Given the description of an element on the screen output the (x, y) to click on. 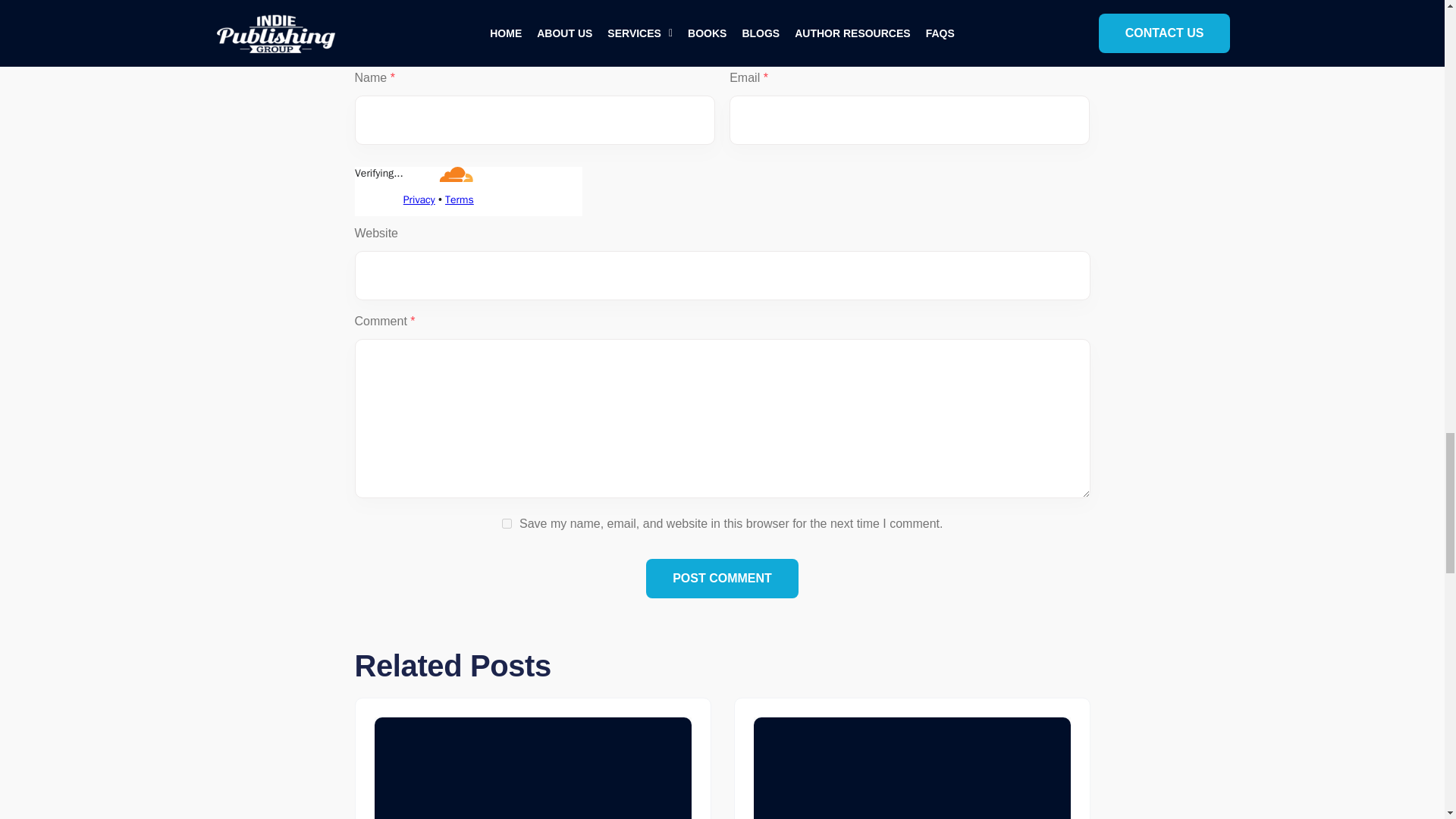
Post Comment (721, 578)
yes (507, 523)
